Given the description of an element on the screen output the (x, y) to click on. 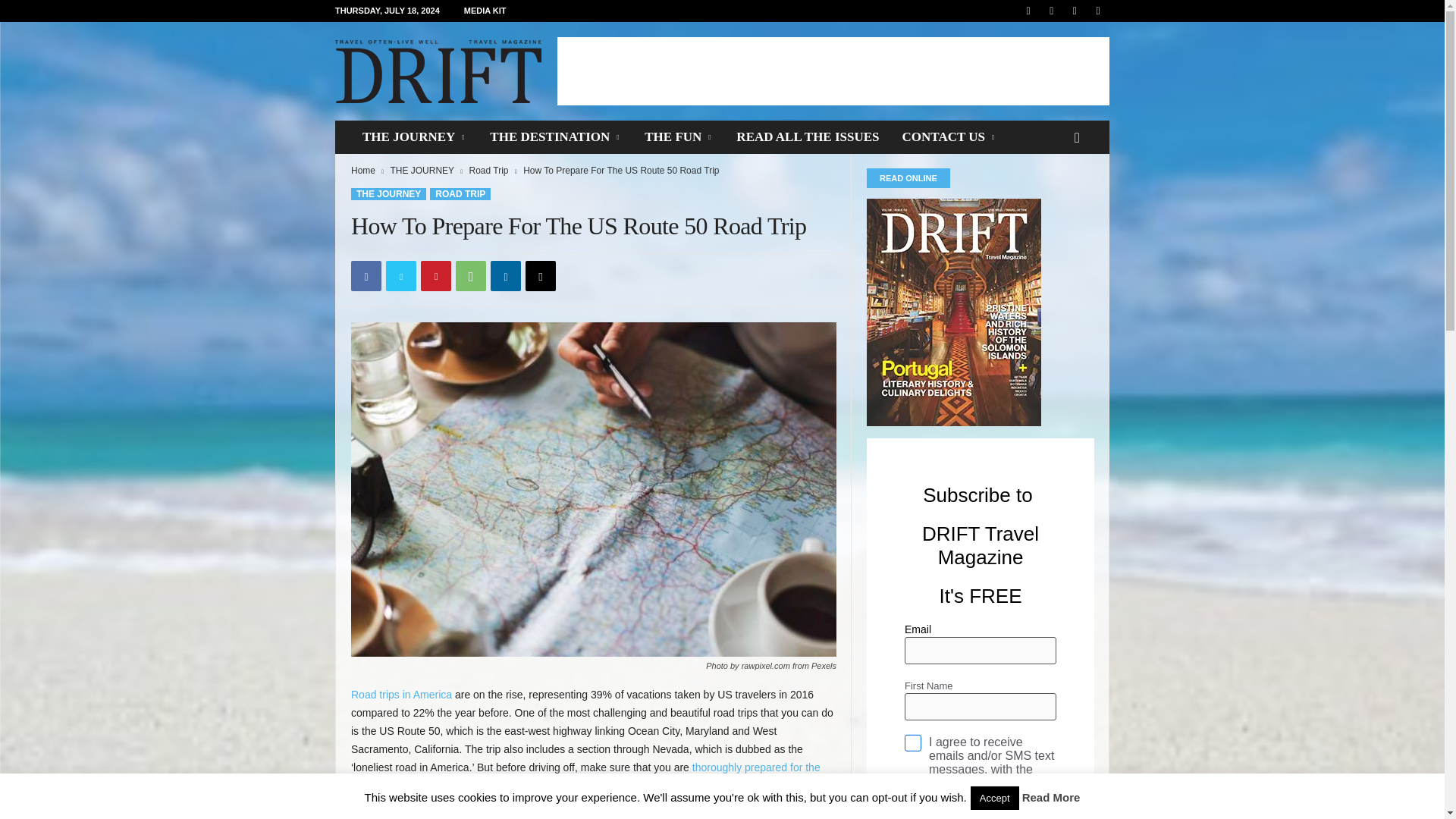
Twitter (400, 276)
Facebook (1027, 11)
Pinterest (435, 276)
Email (540, 276)
Twitter (1074, 11)
Instagram (1051, 11)
Facebook (365, 276)
WhatsApp (470, 276)
View all posts in Road Trip (488, 170)
View all posts in THE JOURNEY (421, 170)
Linkedin (505, 276)
